Given the description of an element on the screen output the (x, y) to click on. 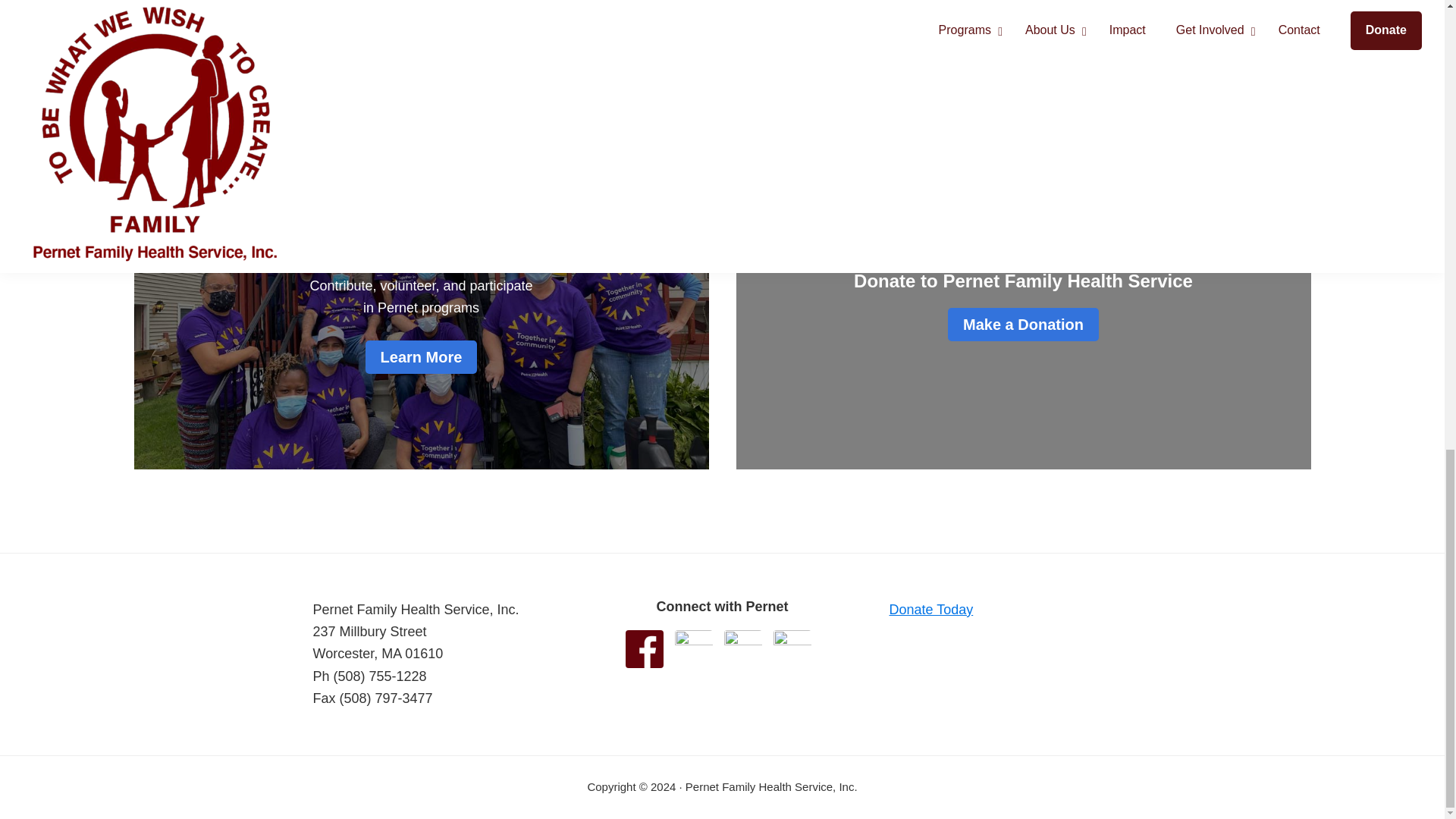
Donate Today (930, 609)
Learn More (421, 356)
Make a Donation (1023, 324)
